Given the description of an element on the screen output the (x, y) to click on. 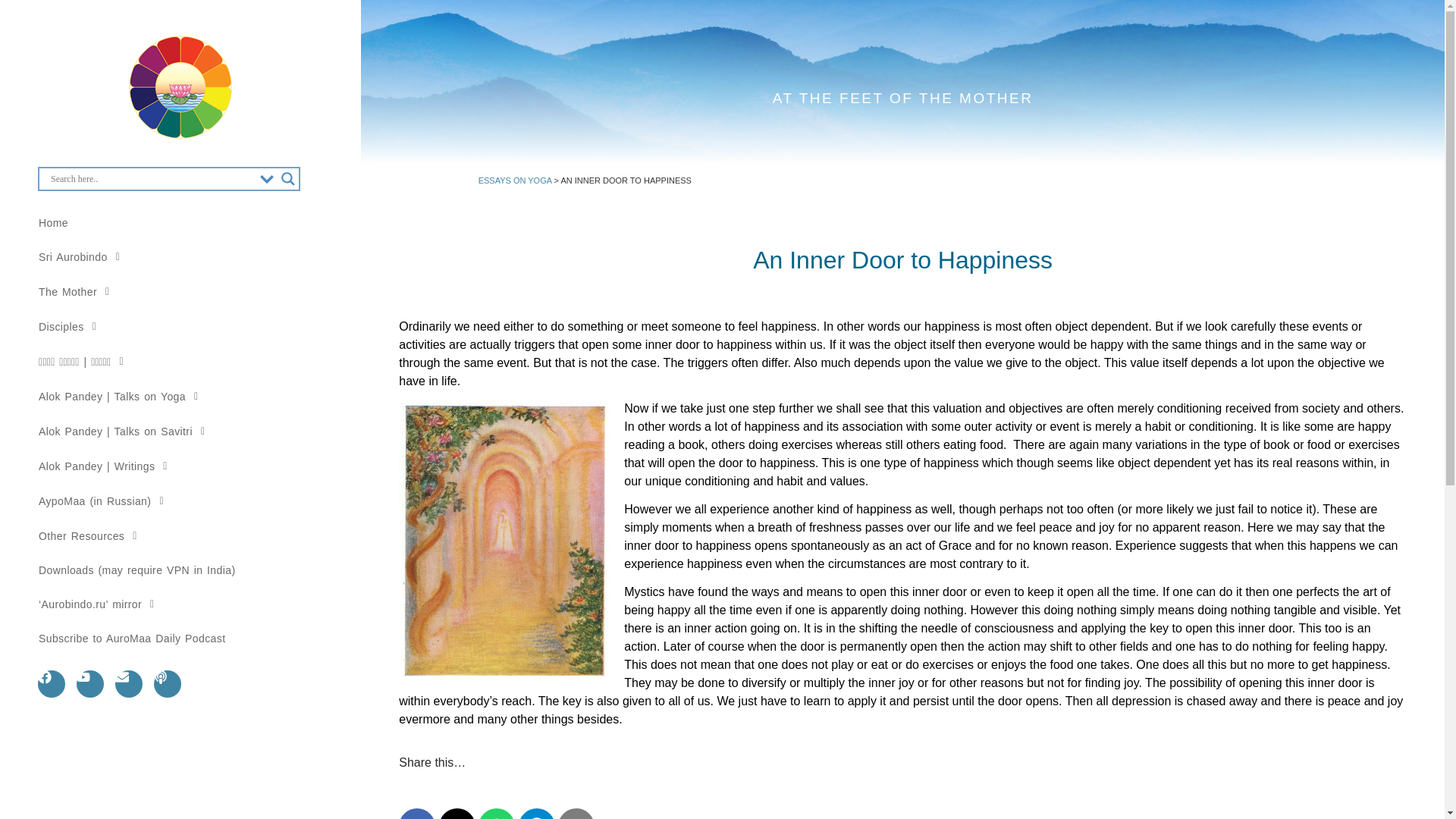
Go to the Essays on Yoga category archives. (515, 180)
Disciples (180, 326)
The Mother (180, 291)
Home (180, 222)
Sri Aurobindo (180, 256)
